Given the description of an element on the screen output the (x, y) to click on. 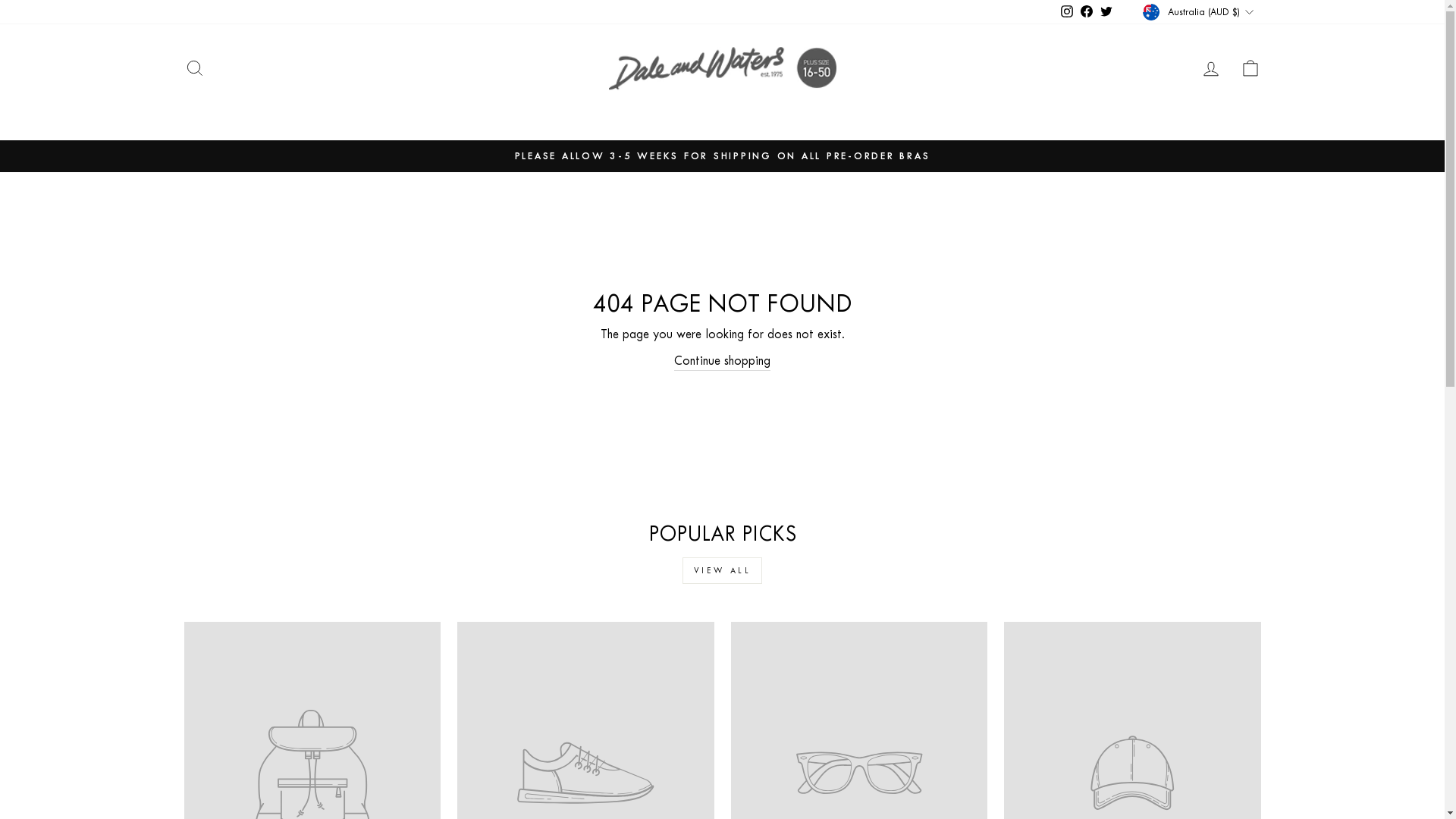
VIEW ALL Element type: text (722, 570)
ICON-SEARCH
SEARCH Element type: text (193, 68)
Facebook Element type: text (1086, 11)
Continue shopping Element type: text (722, 360)
instagram
Instagram Element type: text (1066, 11)
ICON-BAG-MINIMAL
CART Element type: text (1249, 68)
Australia (AUD $) Element type: text (1199, 12)
twitter
Twitter Element type: text (1106, 11)
ACCOUNT
LOG IN Element type: text (1210, 68)
